Given the description of an element on the screen output the (x, y) to click on. 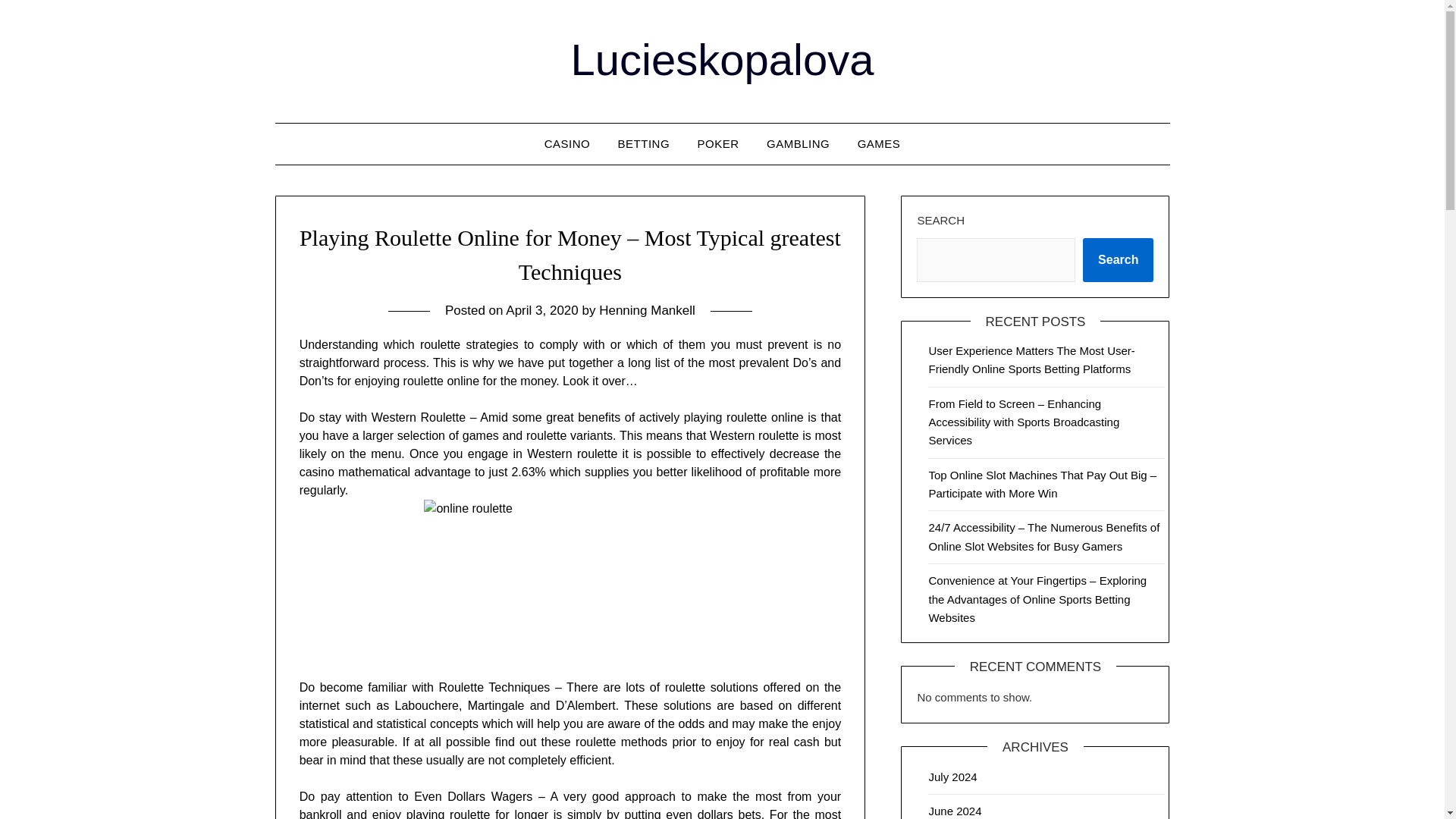
CASINO (567, 143)
July 2024 (952, 776)
POKER (718, 143)
BETTING (643, 143)
June 2024 (954, 810)
Search (1118, 259)
Lucieskopalova (722, 59)
Henning Mankell (646, 310)
GAMES (878, 143)
April 3, 2020 (541, 310)
GAMBLING (797, 143)
